Given the description of an element on the screen output the (x, y) to click on. 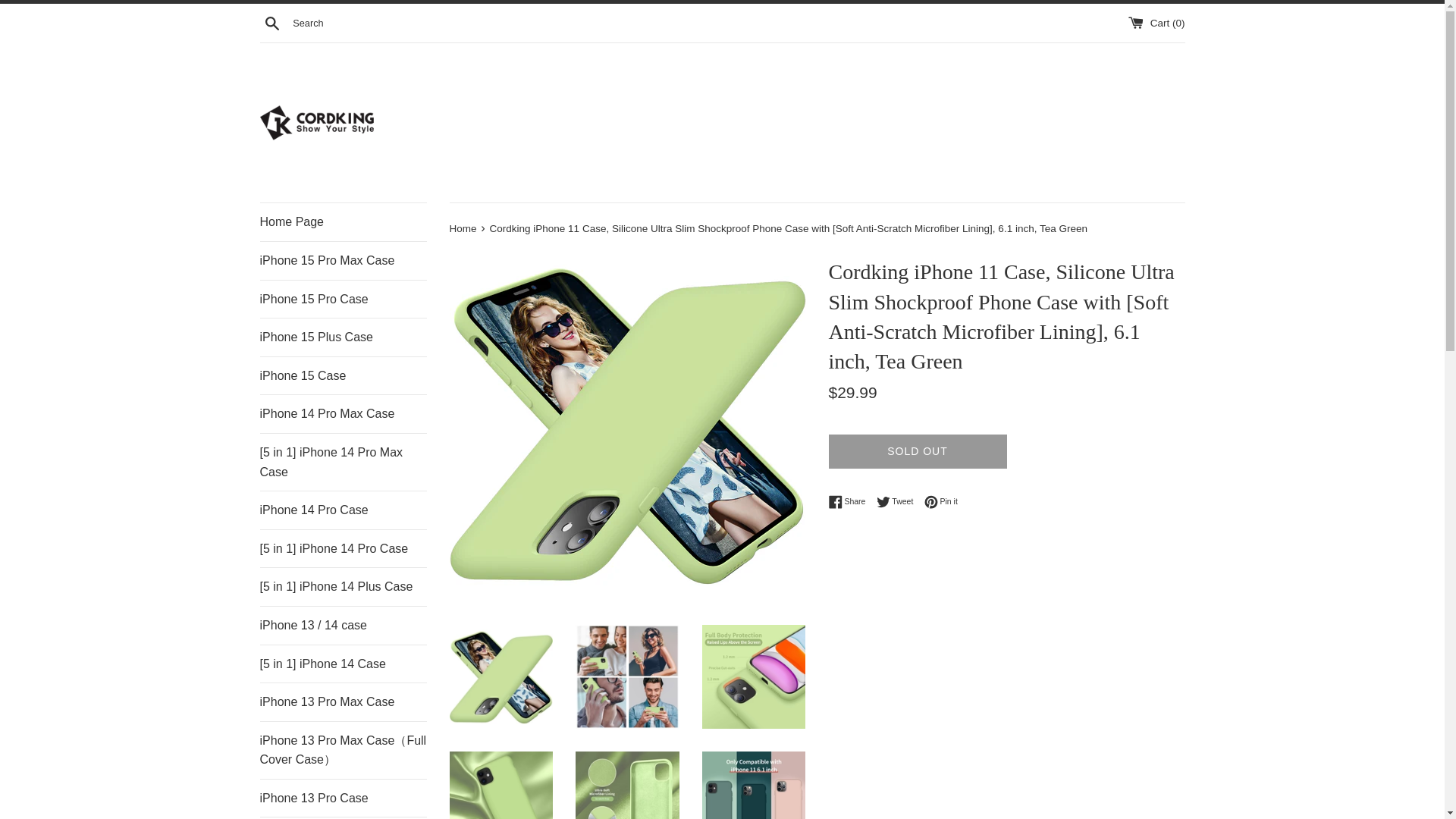
Search (271, 21)
Share on Facebook (850, 501)
iPhone 13 Pro Case (342, 798)
iPhone 13 Pro Max Case (342, 702)
iPhone 15 Plus Case (342, 337)
iPhone 14 Pro Case (342, 510)
iPhone 14 Pro Max Case (342, 413)
iPhone 15 Pro Max Case (342, 260)
iPhone 15 Case (342, 375)
Tweet on Twitter (898, 501)
Home Page (342, 221)
iPhone 15 Pro Case (342, 299)
Pin on Pinterest (941, 501)
Back to the frontpage (463, 228)
